Given the description of an element on the screen output the (x, y) to click on. 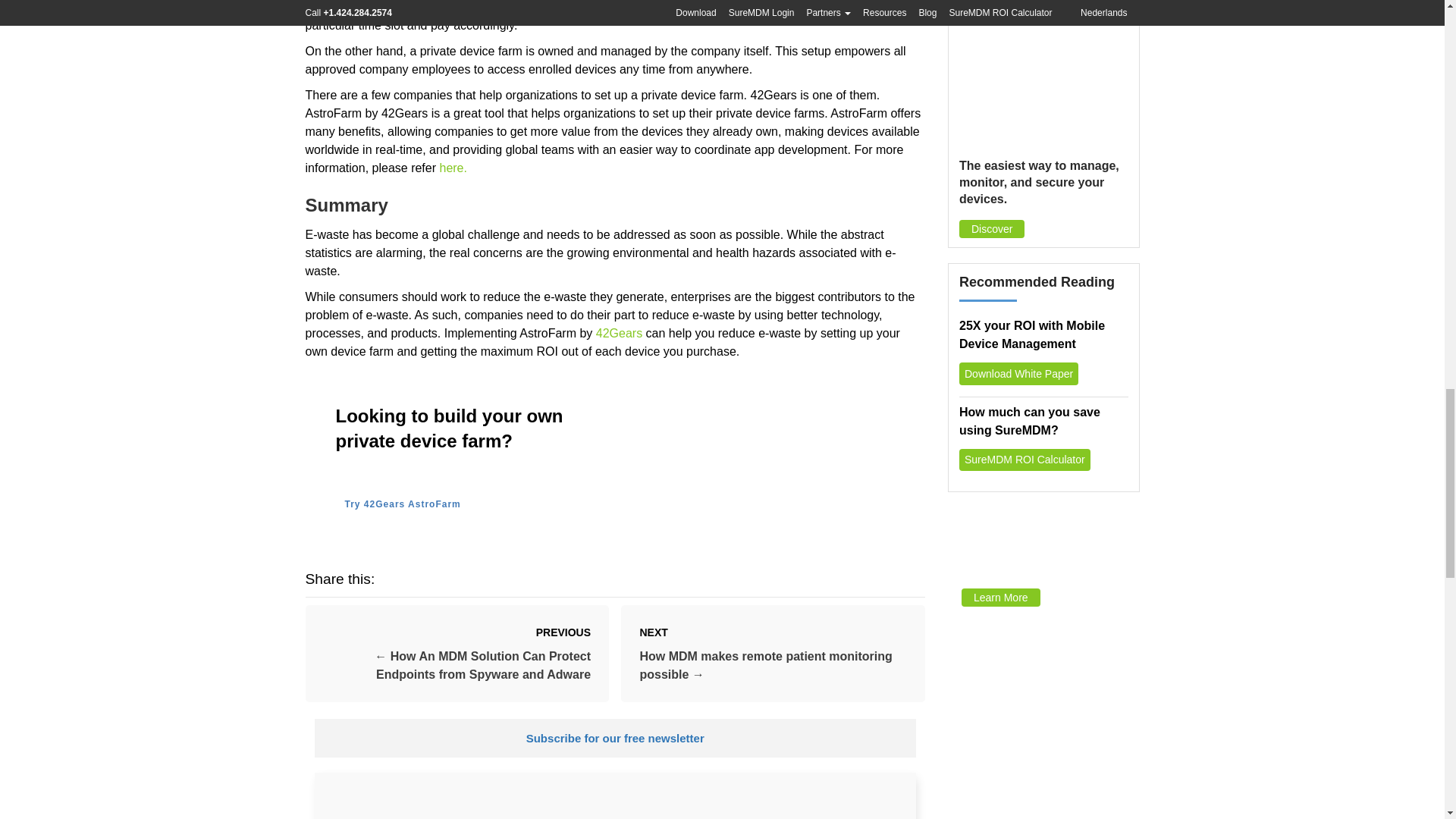
Share via Twitter (448, 578)
Share via LinkedIn (472, 578)
Share via Email (495, 578)
Share via Facebook (400, 578)
Share via Google (423, 578)
